Given the description of an element on the screen output the (x, y) to click on. 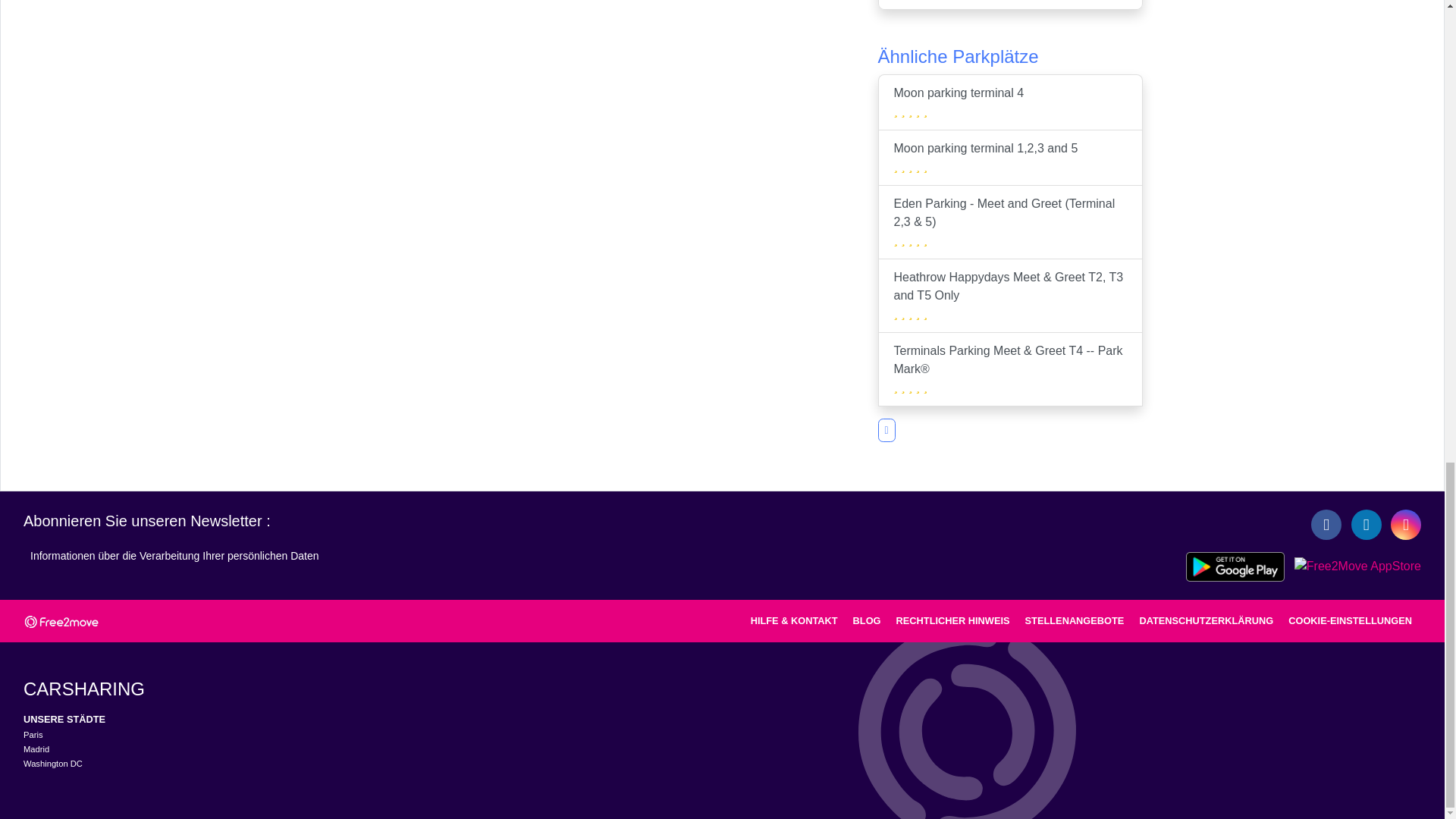
Paris (33, 734)
Washington DC (52, 763)
Madrid (36, 748)
